Given the description of an element on the screen output the (x, y) to click on. 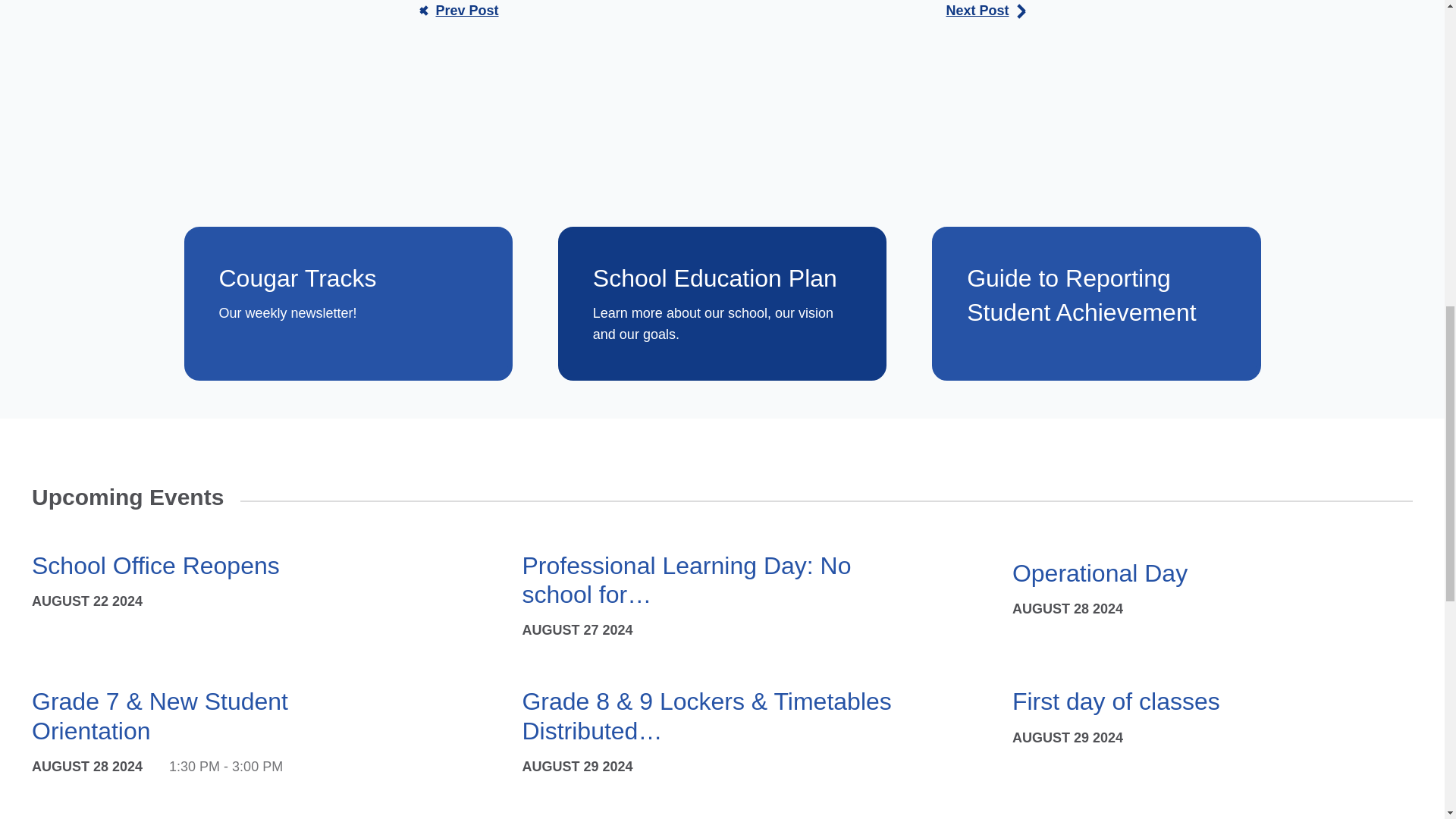
Next Post (984, 11)
Previous Post (458, 10)
